Given the description of an element on the screen output the (x, y) to click on. 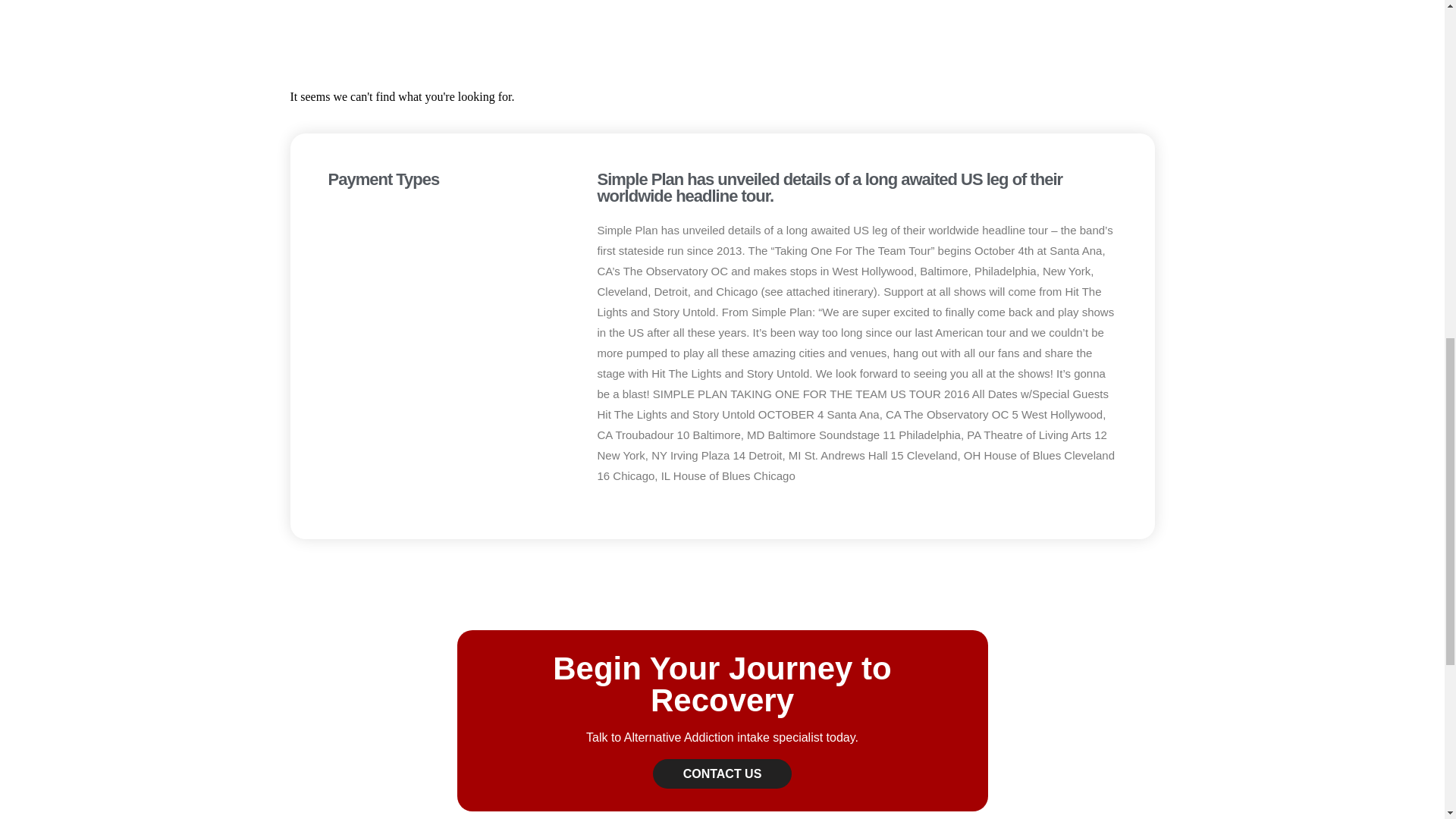
It seems we can't find what you're looking for. (721, 96)
CONTACT US (722, 773)
